Given the description of an element on the screen output the (x, y) to click on. 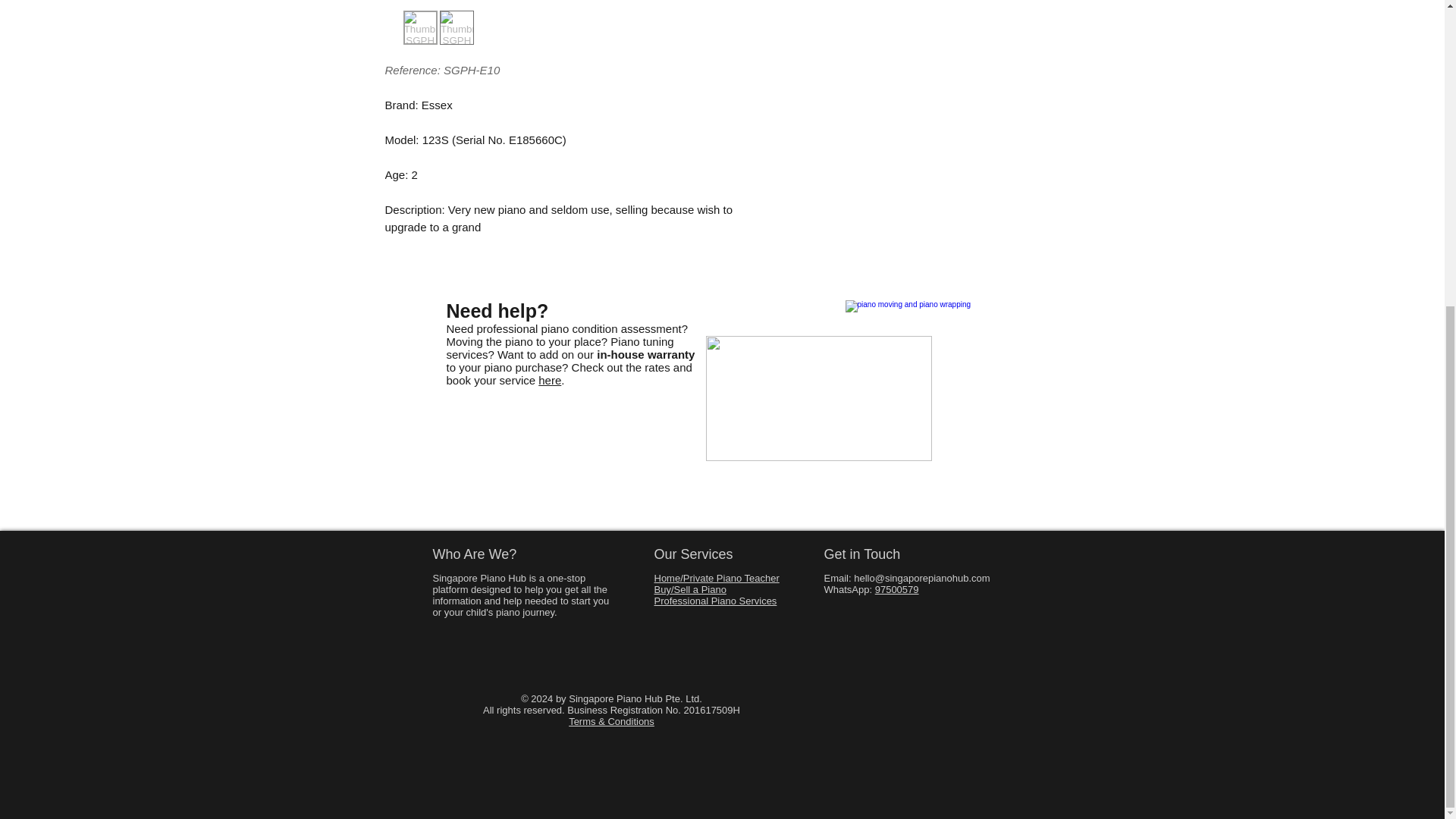
WhatsApp: 97500579 (871, 589)
Professional Piano Services (714, 600)
here (549, 379)
